Given the description of an element on the screen output the (x, y) to click on. 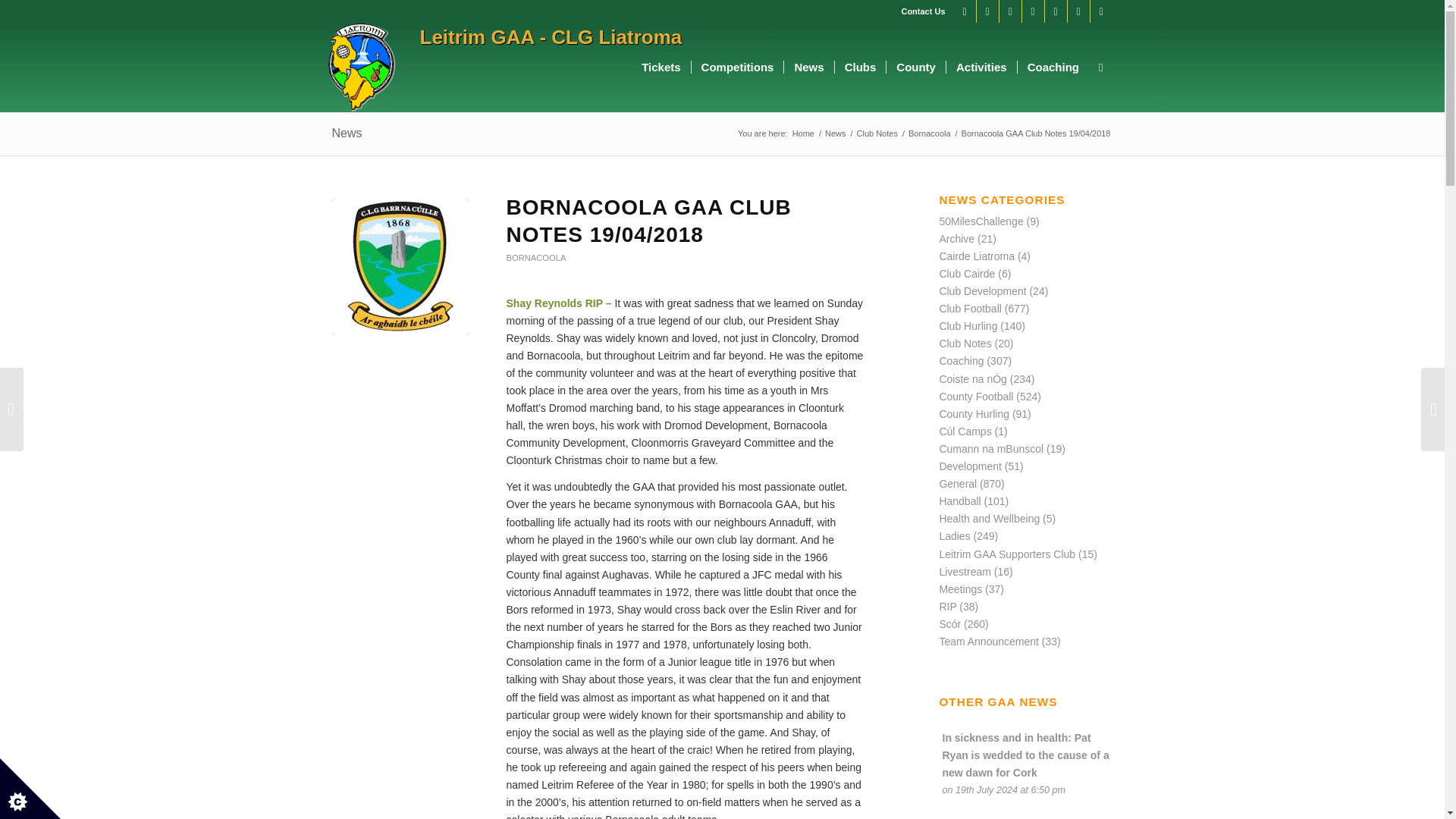
Mail (1078, 11)
Instagram (1032, 11)
Rss (1101, 11)
Facebook (964, 11)
Contact Us (922, 11)
Vimeo (1056, 11)
Youtube (987, 11)
X (1010, 11)
Competitions (737, 67)
Permanent Link: News (346, 132)
Bornacoola (399, 266)
News (835, 133)
